Given the description of an element on the screen output the (x, y) to click on. 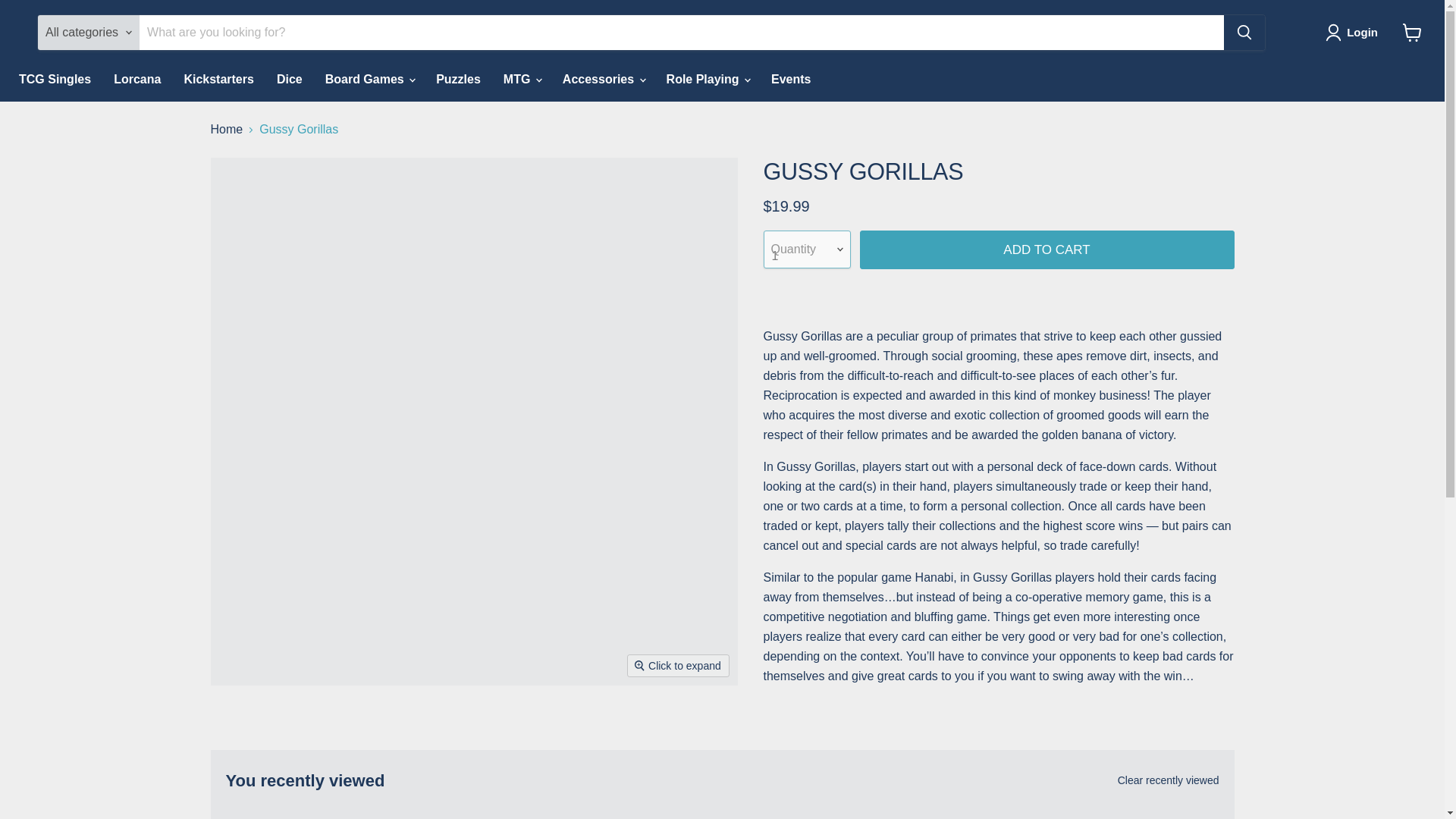
View cart (1411, 32)
Lorcana (136, 79)
TCG Singles (54, 79)
Dice (289, 79)
Puzzles (458, 79)
Kickstarters (217, 79)
Login (1354, 32)
Events (791, 79)
